Given the description of an element on the screen output the (x, y) to click on. 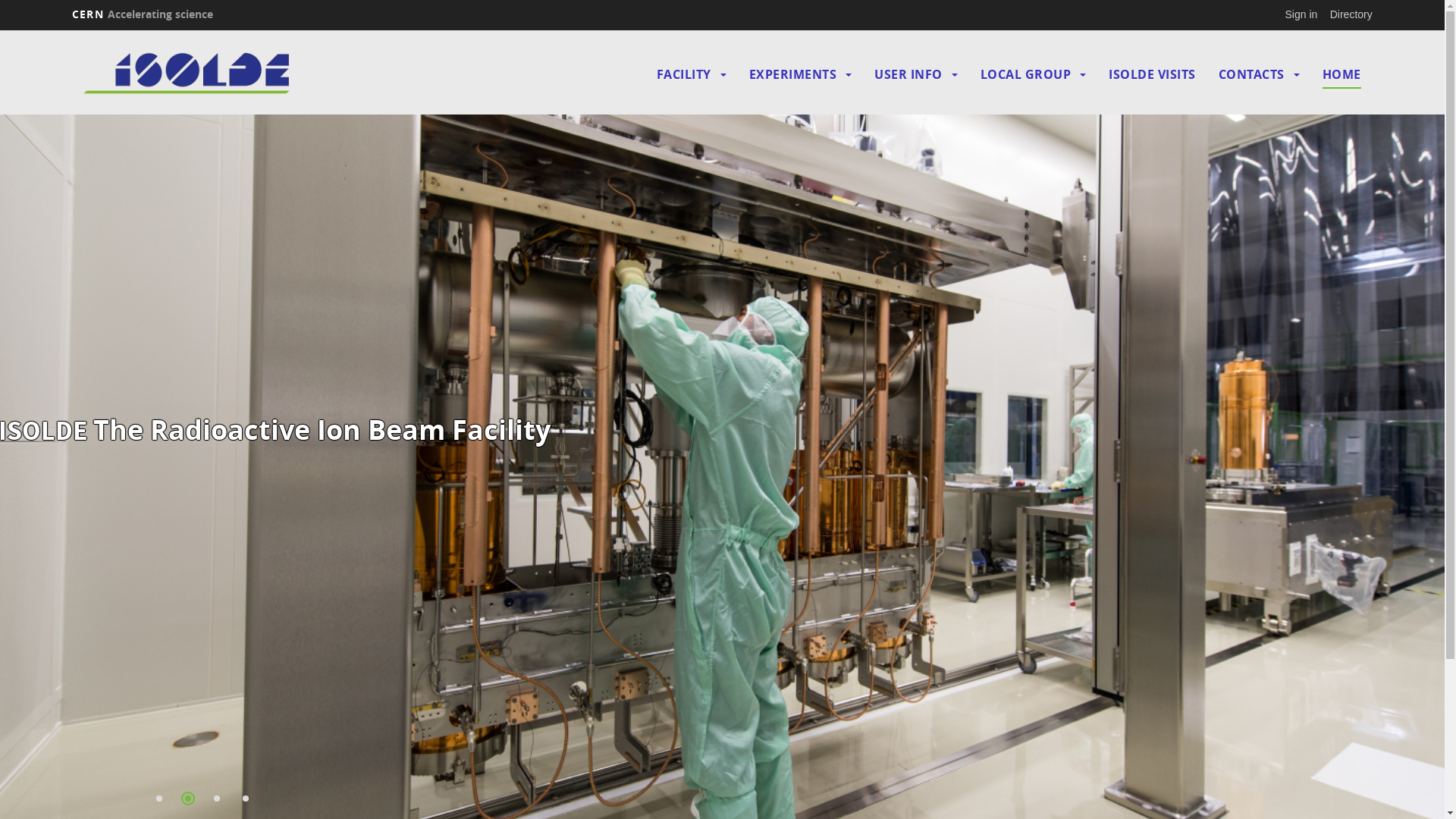
Skip to main content Element type: text (0, 30)
ISOLDE VISITS Element type: text (1151, 74)
Directory Element type: text (1351, 14)
HOME Element type: text (1341, 74)
Home Element type: hover (230, 74)
USER INFO Element type: text (908, 74)
Sign in Element type: text (1301, 14)
CONTACTS Element type: text (1251, 74)
CERN Accelerating science Element type: text (142, 14)
EXPERIMENTS Element type: text (793, 74)
FACILITY Element type: text (683, 74)
LOCAL GROUP Element type: text (1025, 74)
